Given the description of an element on the screen output the (x, y) to click on. 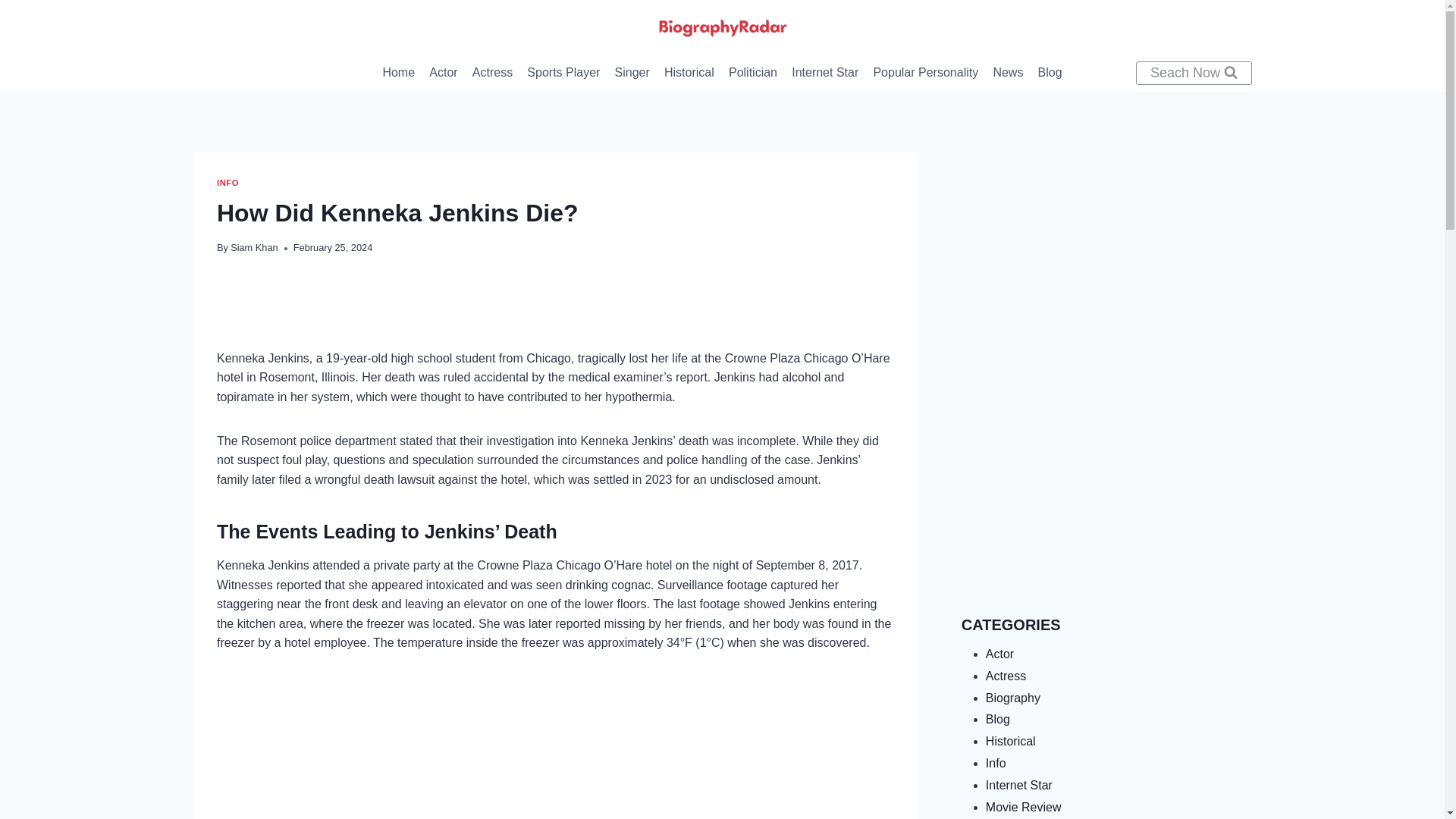
News (1007, 72)
Blog (1049, 72)
Popular Personality (925, 72)
Singer (631, 72)
Sports Player (563, 72)
Advertisement (1106, 489)
Siam Khan (254, 247)
Advertisement (1106, 258)
INFO (227, 182)
Historical (688, 72)
